Given the description of an element on the screen output the (x, y) to click on. 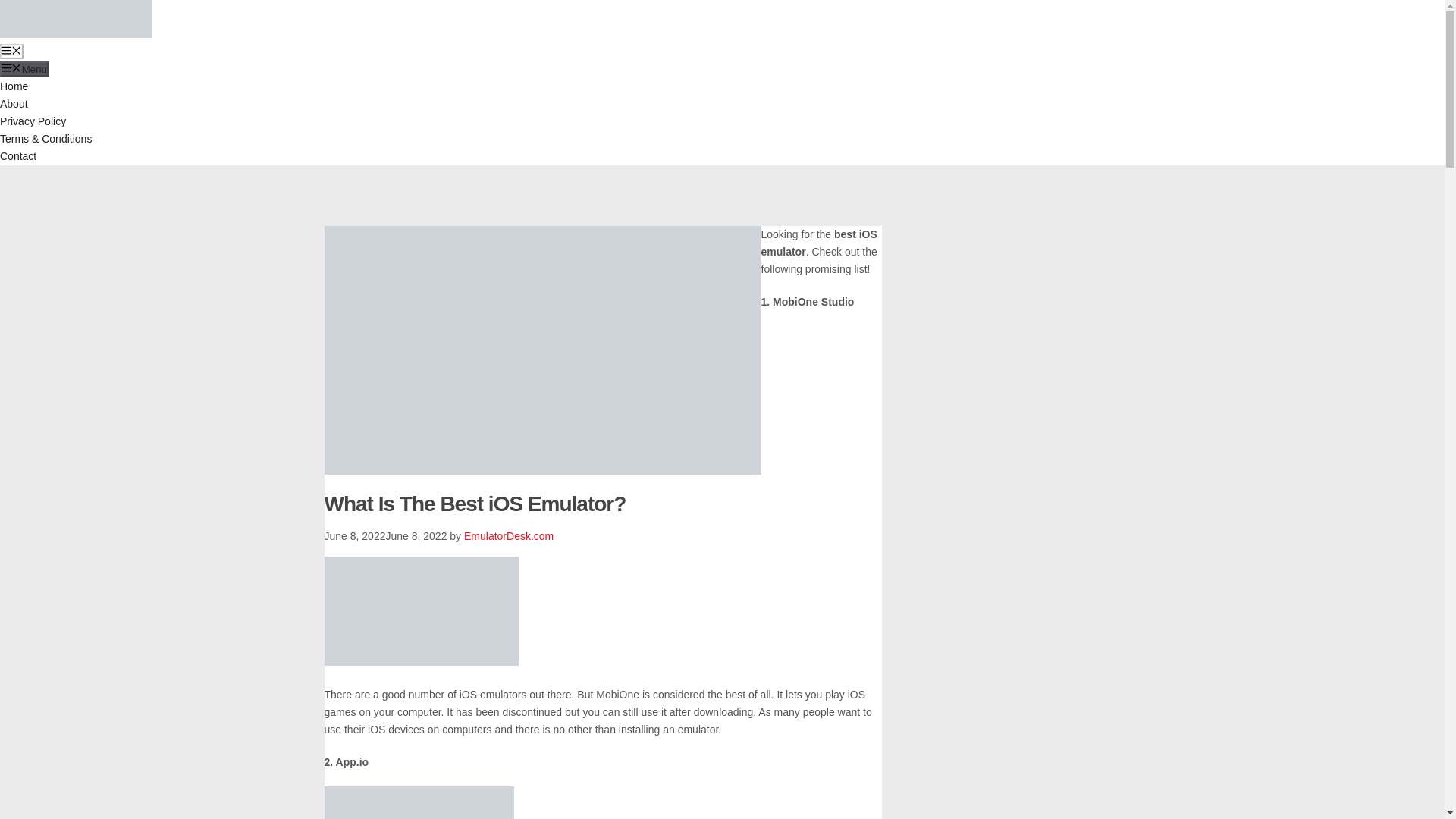
About (13, 103)
Privacy Policy (32, 121)
Menu (24, 68)
Menu (11, 51)
Home (13, 86)
EmulatorDesk.com (508, 535)
Contact (18, 155)
View all posts by EmulatorDesk.com (508, 535)
